Given the description of an element on the screen output the (x, y) to click on. 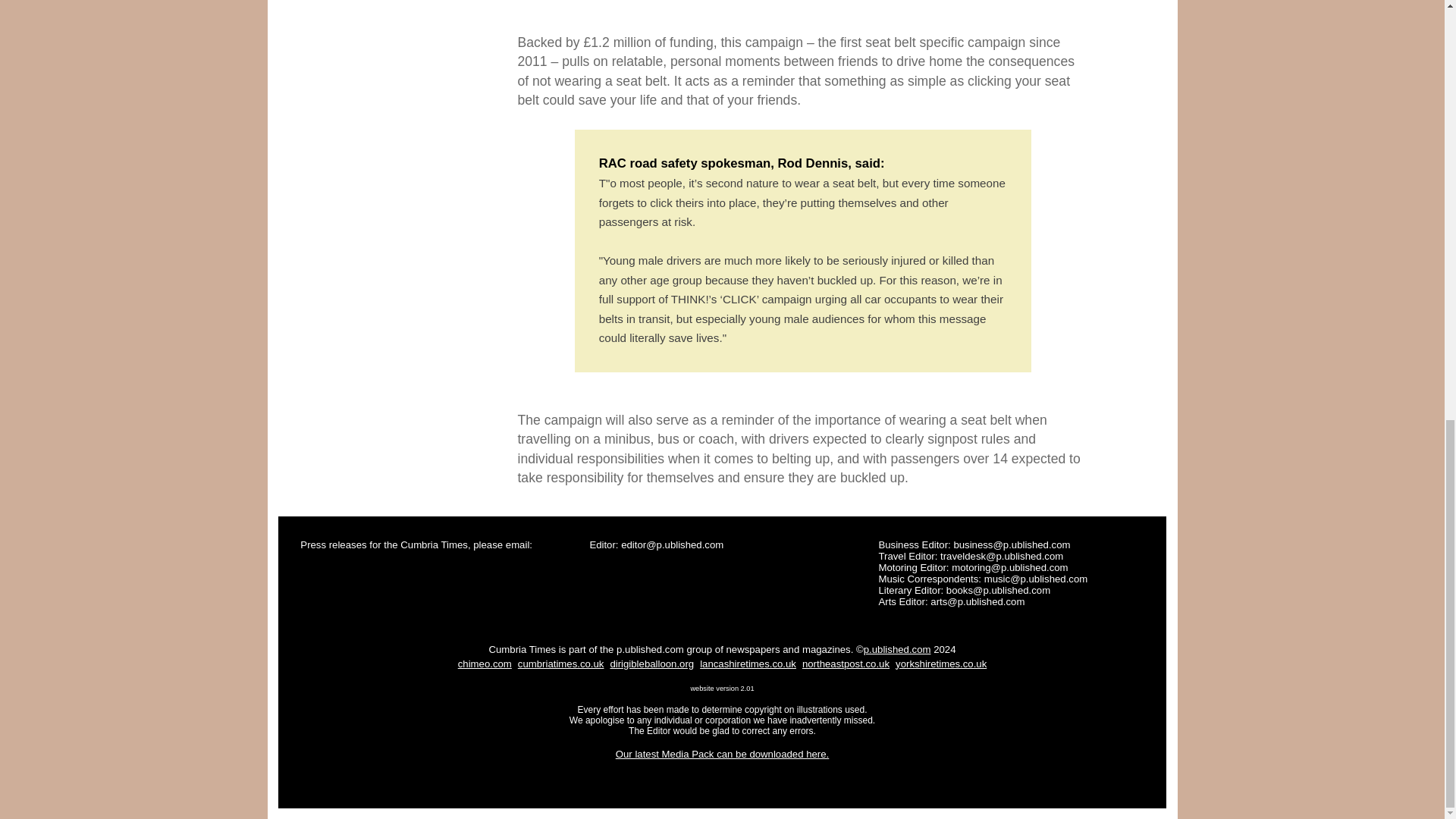
northeastpost.co.uk (845, 663)
chimeo.com (485, 663)
yorkshiretimes.co.uk (941, 663)
Our latest Media Pack can be downloaded here. (722, 754)
dirigibleballoon.org (652, 663)
cumbriatimes.co.uk (561, 663)
p.ublished.com (897, 649)
lancashiretimes.co.uk (748, 663)
